Given the description of an element on the screen output the (x, y) to click on. 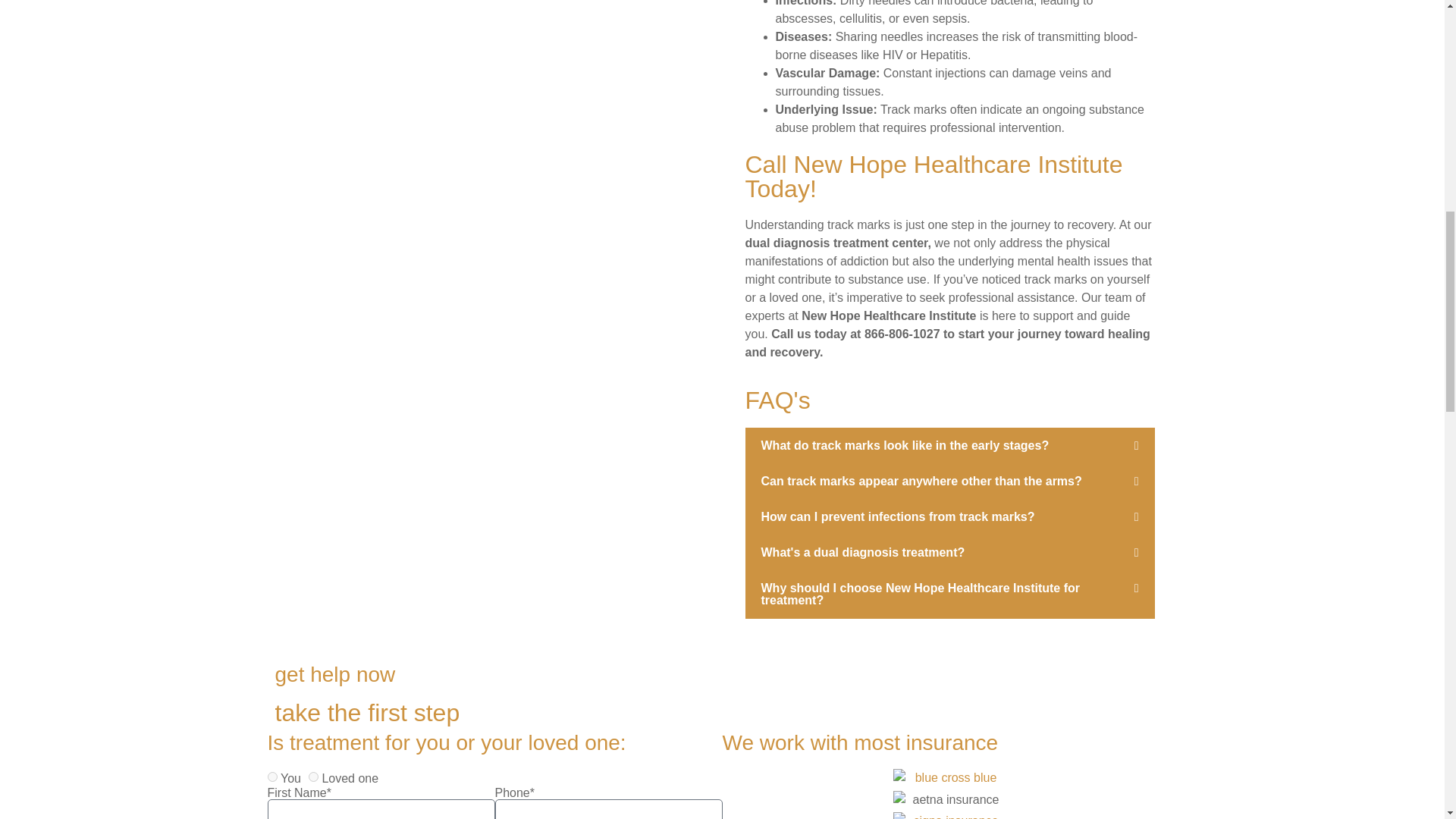
aetna insurance logo (950, 801)
blue cross blue shield insurance (950, 780)
Loved one (313, 777)
cigna insurance logo (950, 815)
You (271, 777)
